Given the description of an element on the screen output the (x, y) to click on. 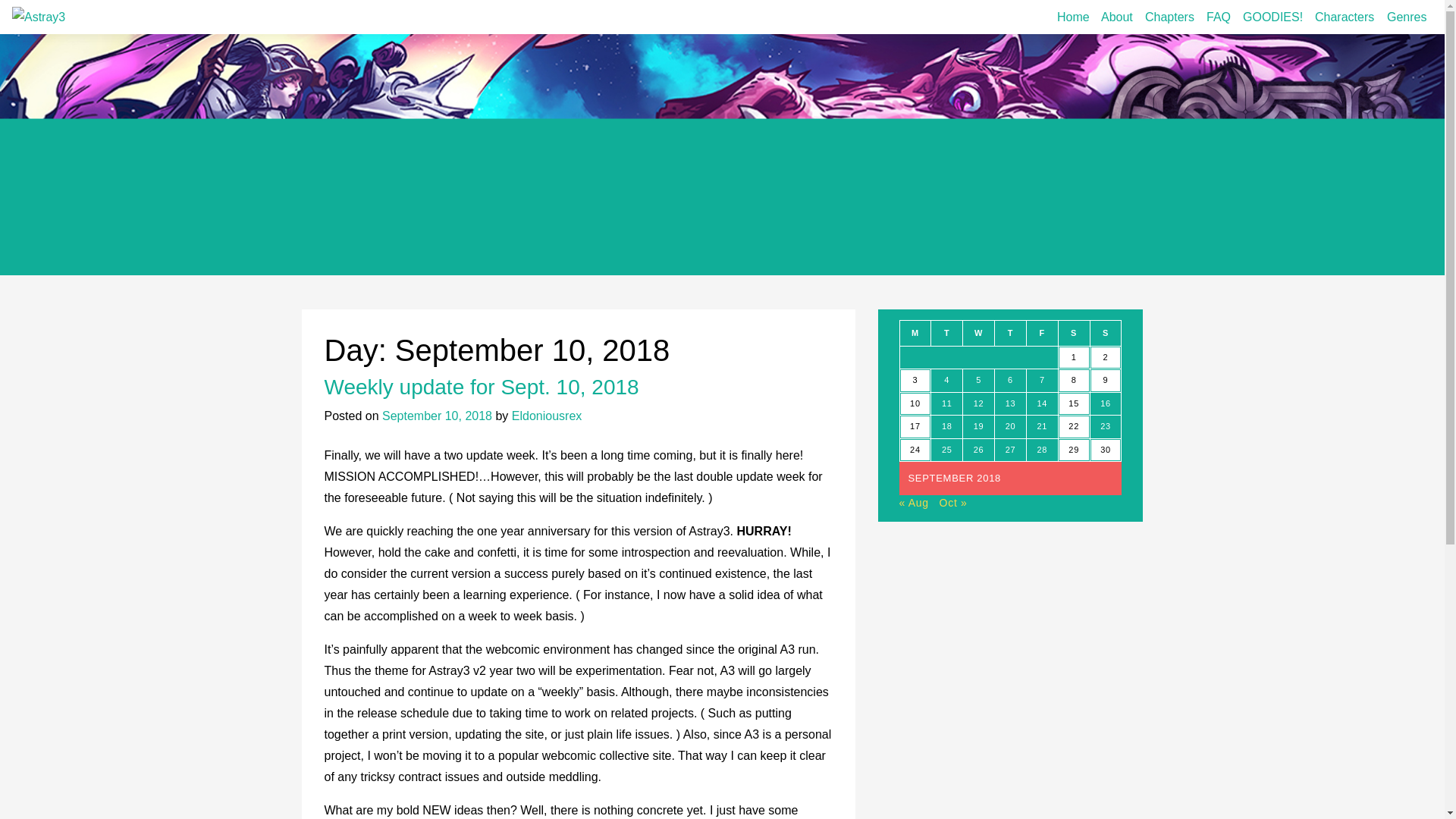
10 (915, 403)
About (1116, 16)
Monday (915, 332)
24 (915, 450)
September 10, 2018 (436, 415)
Genres (1406, 16)
1 (1074, 357)
Characters (1344, 16)
3 (915, 380)
Thursday (1010, 332)
